Given the description of an element on the screen output the (x, y) to click on. 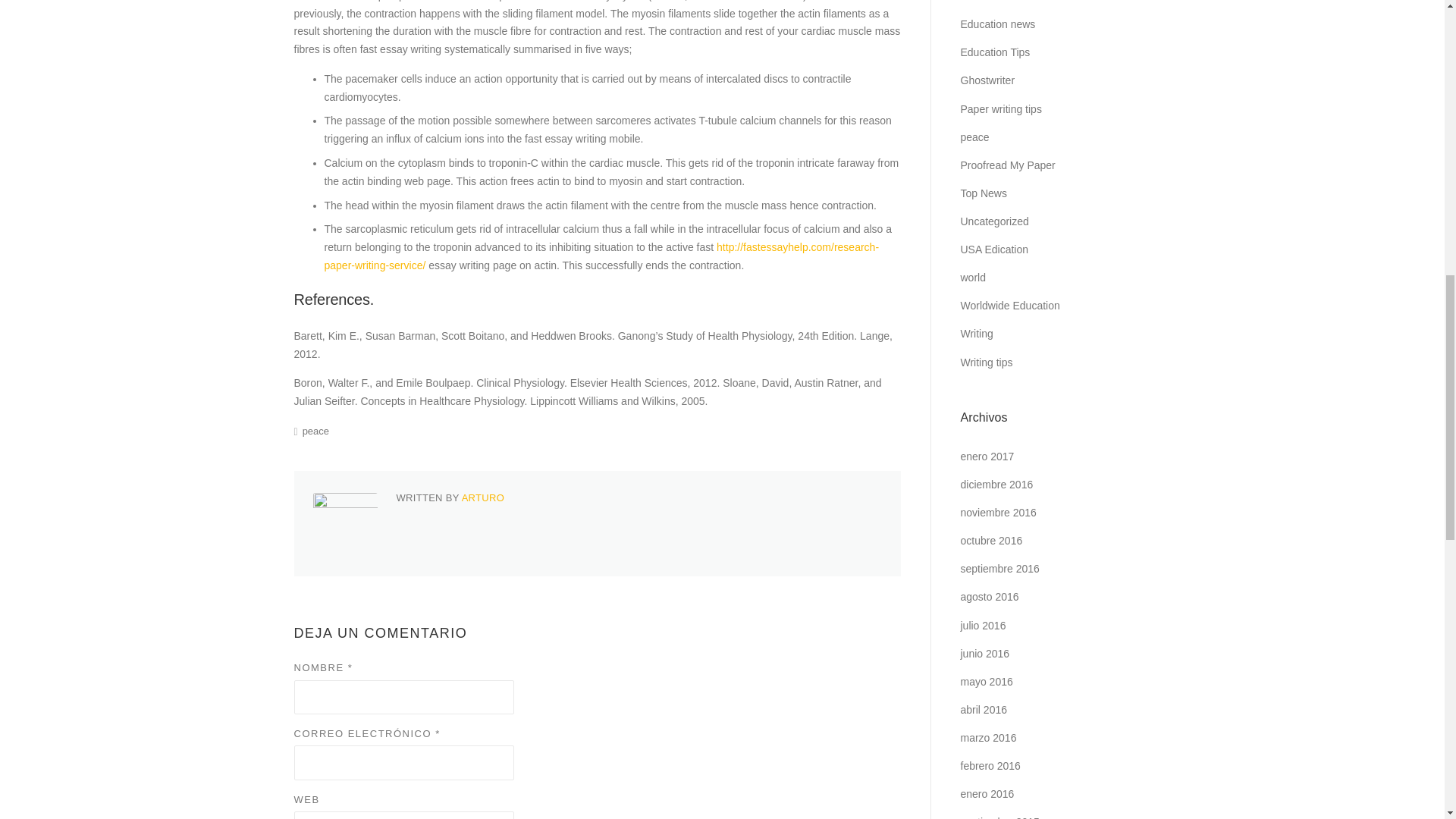
ARTURO (482, 497)
peace (315, 430)
